Given the description of an element on the screen output the (x, y) to click on. 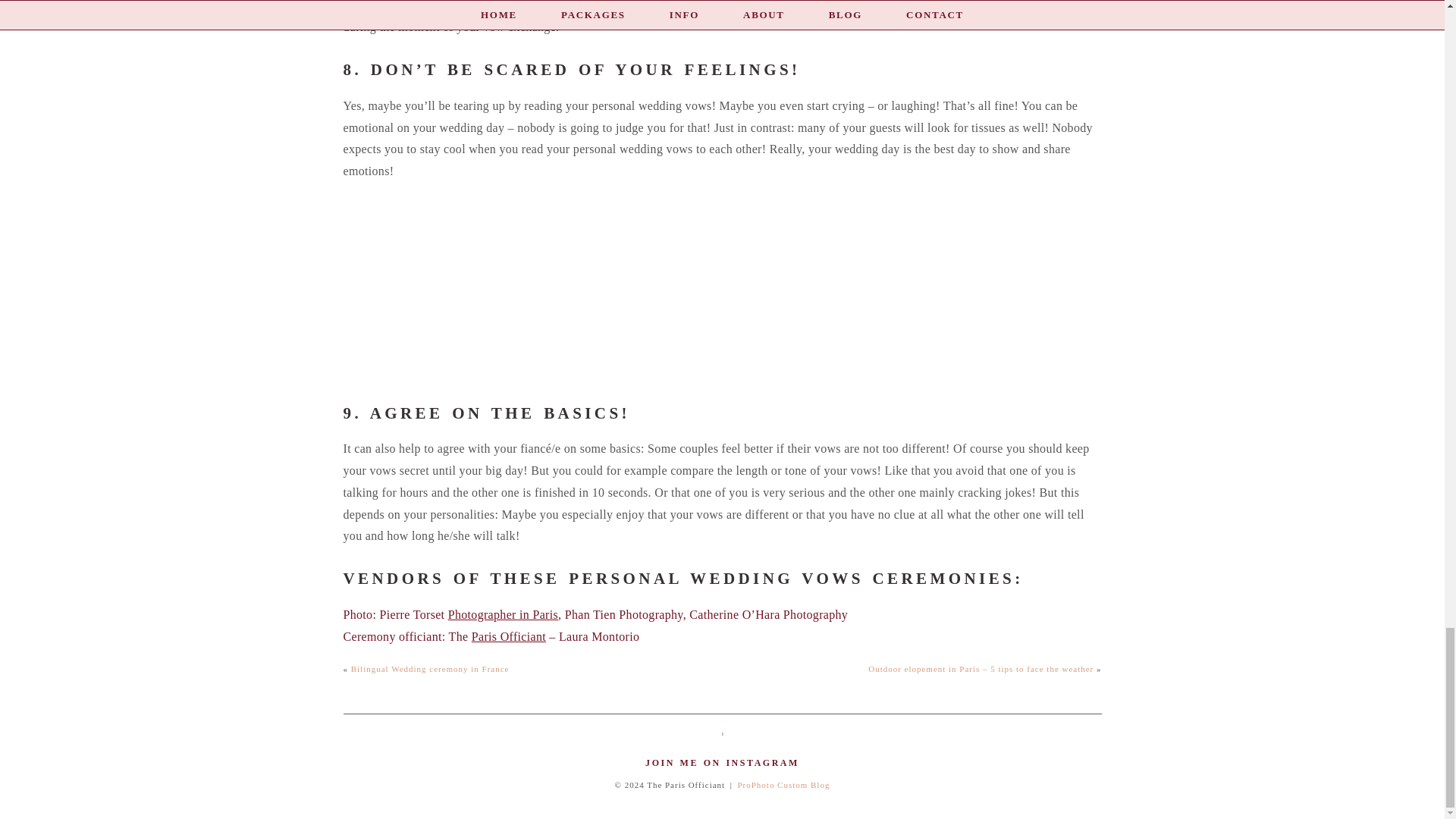
Photographer in Paris (502, 614)
Bilingual Wedding ceremony in France (429, 668)
Paris Officiant (508, 635)
ProPhoto Photography Theme (782, 784)
